Given the description of an element on the screen output the (x, y) to click on. 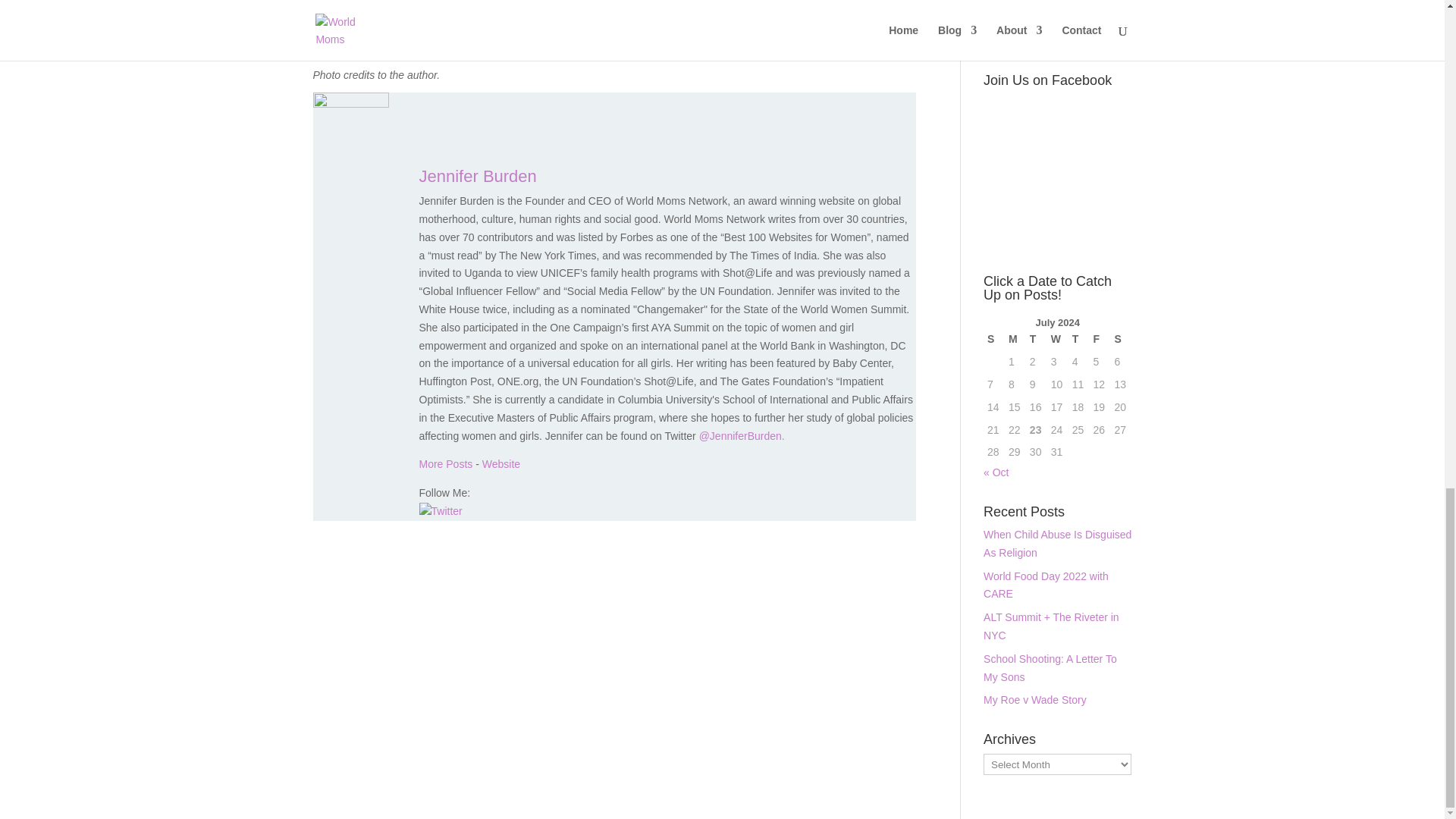
More posts by Jennifer Burden (445, 463)
Sunday (994, 339)
Tuesday (1036, 339)
Thursday (1078, 339)
Monday (1015, 339)
Saturday (1120, 339)
More Posts (445, 463)
Friday (1099, 339)
Jennifer Burden (500, 463)
Jennifer Burden (477, 176)
. (782, 435)
Website (500, 463)
Jennifer Burden (477, 176)
Wednesday (1057, 339)
